Given the description of an element on the screen output the (x, y) to click on. 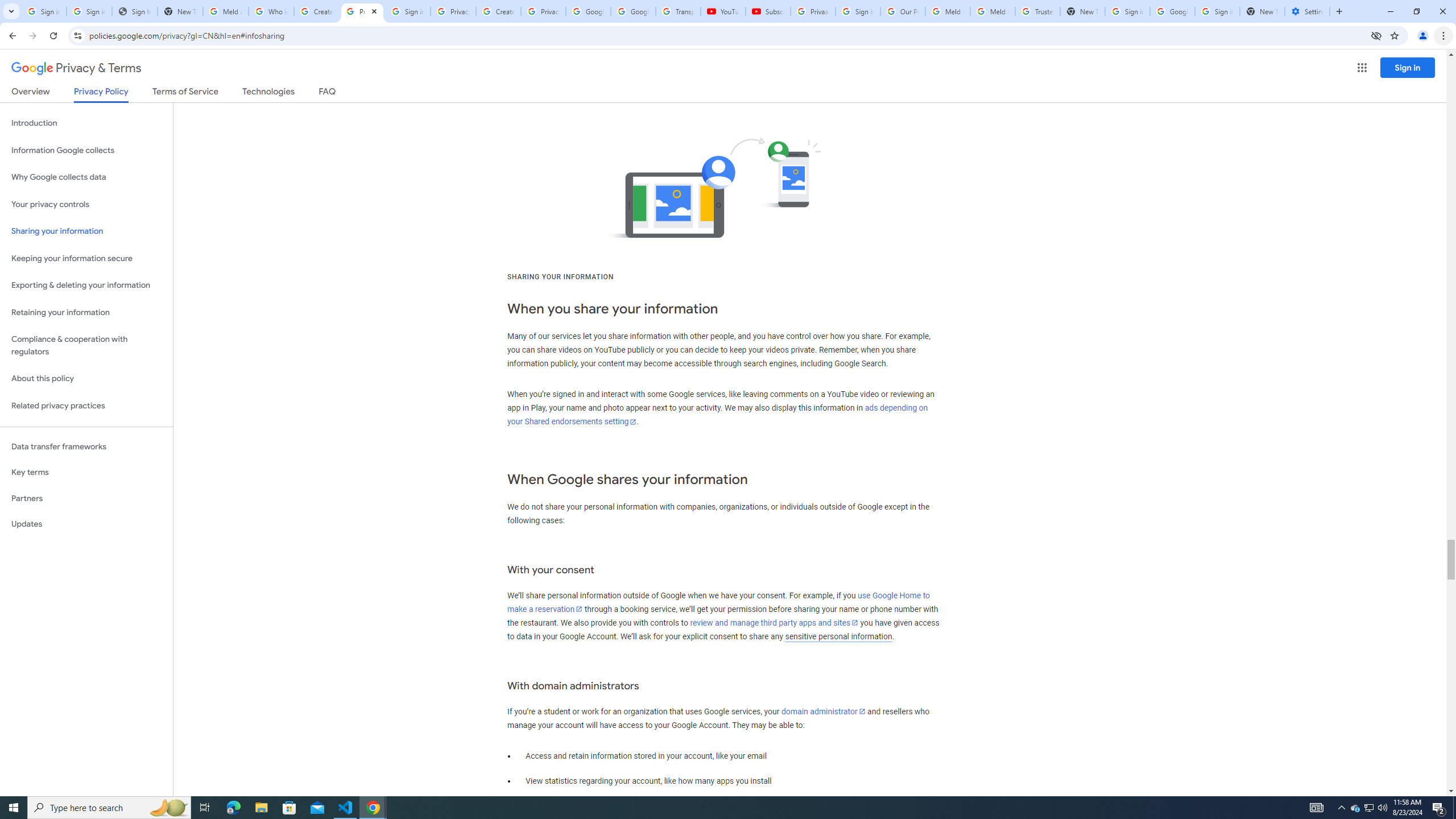
Key terms (86, 472)
Subscriptions - YouTube (767, 11)
Compliance & cooperation with regulators (86, 345)
Who is my administrator? - Google Account Help (270, 11)
Create your Google Account (497, 11)
Keeping your information secure (86, 258)
Trusted Information and Content - Google Safety Center (1037, 11)
Sign in - Google Accounts (407, 11)
